Given the description of an element on the screen output the (x, y) to click on. 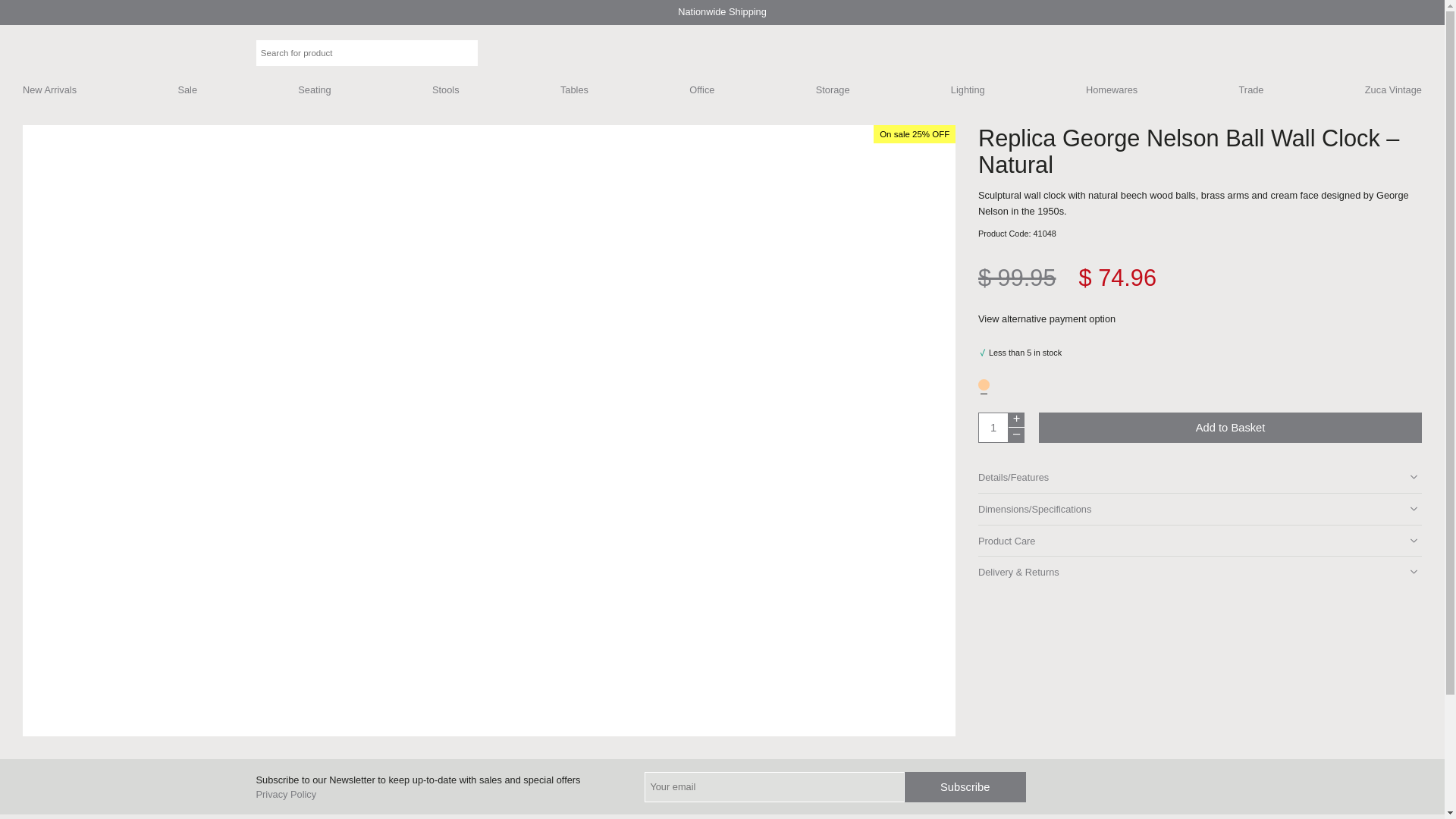
Tables (574, 90)
View alternative payment option (1057, 319)
New Arrivals (50, 90)
Seating (314, 90)
Add to Basket (1230, 427)
Add to Basket (1230, 427)
Sale (186, 90)
New Arrivals (50, 90)
Stools (446, 90)
Storage (832, 90)
